Given the description of an element on the screen output the (x, y) to click on. 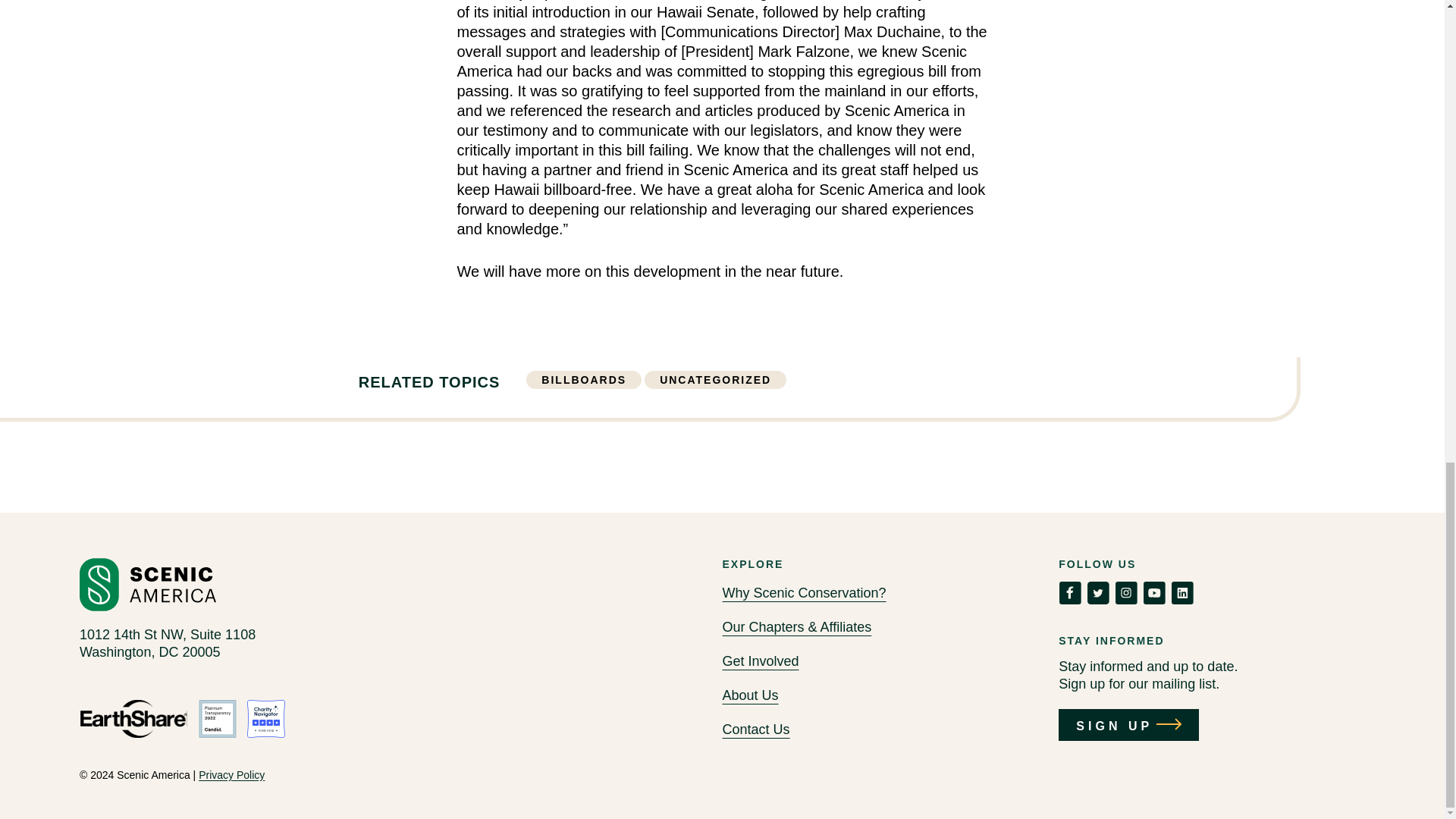
twitter (1097, 592)
linkedin (1181, 592)
instagram (1126, 592)
youtube (1154, 592)
facebook (1069, 592)
